Given the description of an element on the screen output the (x, y) to click on. 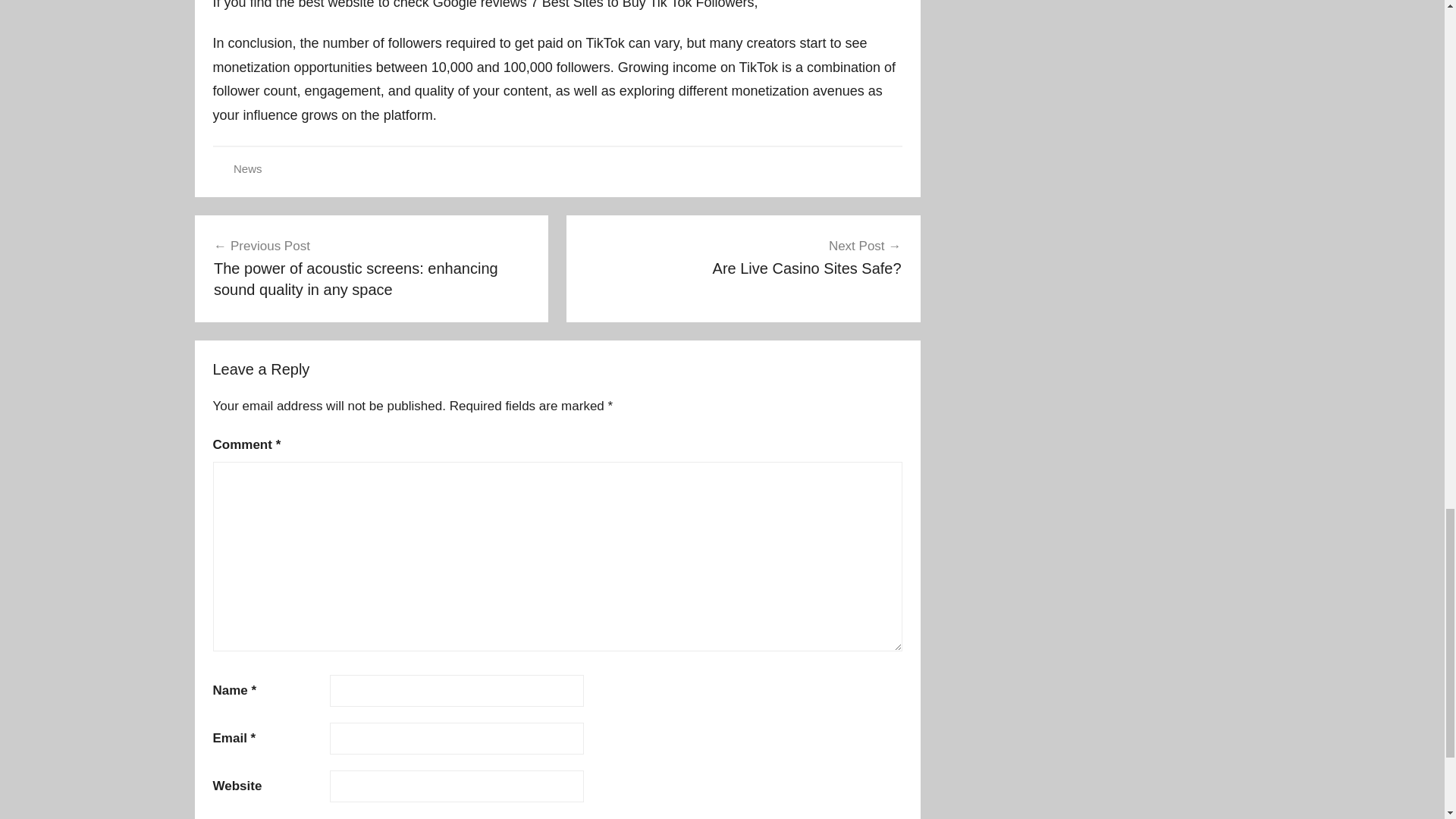
News (247, 168)
